Given the description of an element on the screen output the (x, y) to click on. 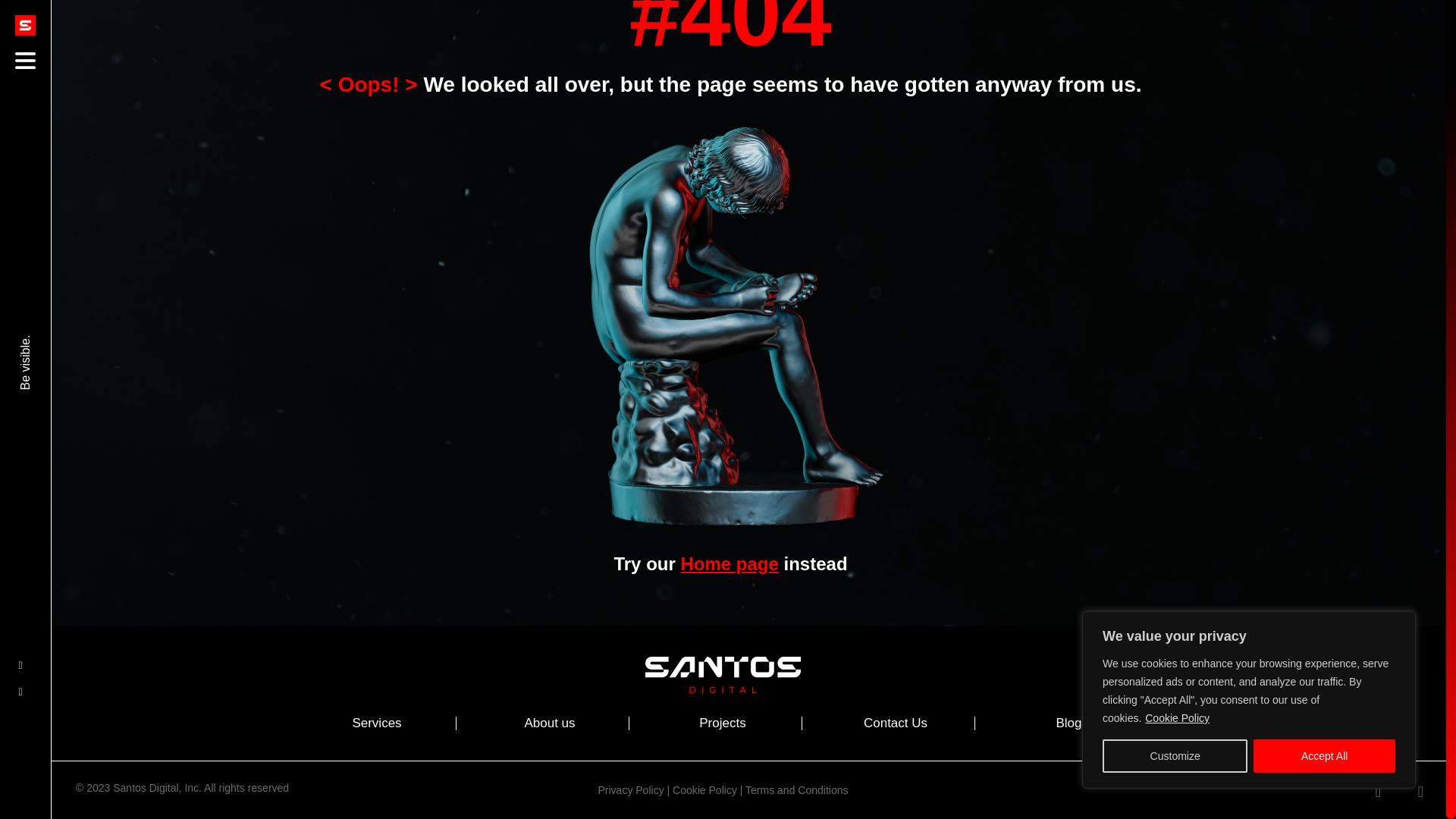
Contact Us (895, 722)
Services (376, 722)
Projects (721, 722)
Customize (1174, 670)
Accept All (1323, 670)
Cookie Policy (1176, 632)
About us (549, 722)
Home page (728, 563)
